Given the description of an element on the screen output the (x, y) to click on. 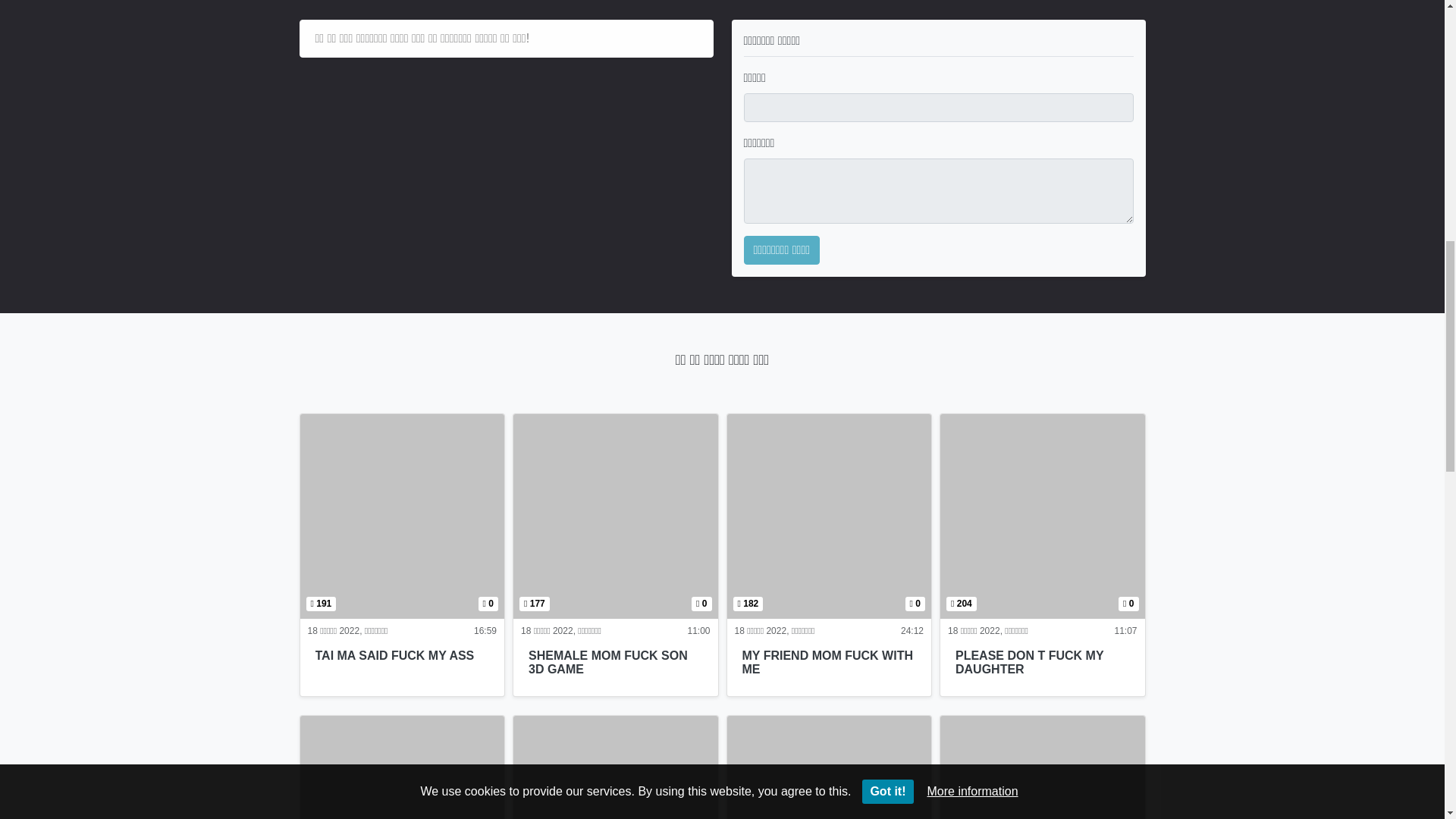
MY FRIEND MOM FUCK WITH ME (826, 662)
TAI MA SAID FUCK MY ASS (402, 516)
SHEMALE MOM FUCK SON 3D GAME (828, 516)
PLEASE DON T FUCK MY DAUGHTER (394, 655)
